Given the description of an element on the screen output the (x, y) to click on. 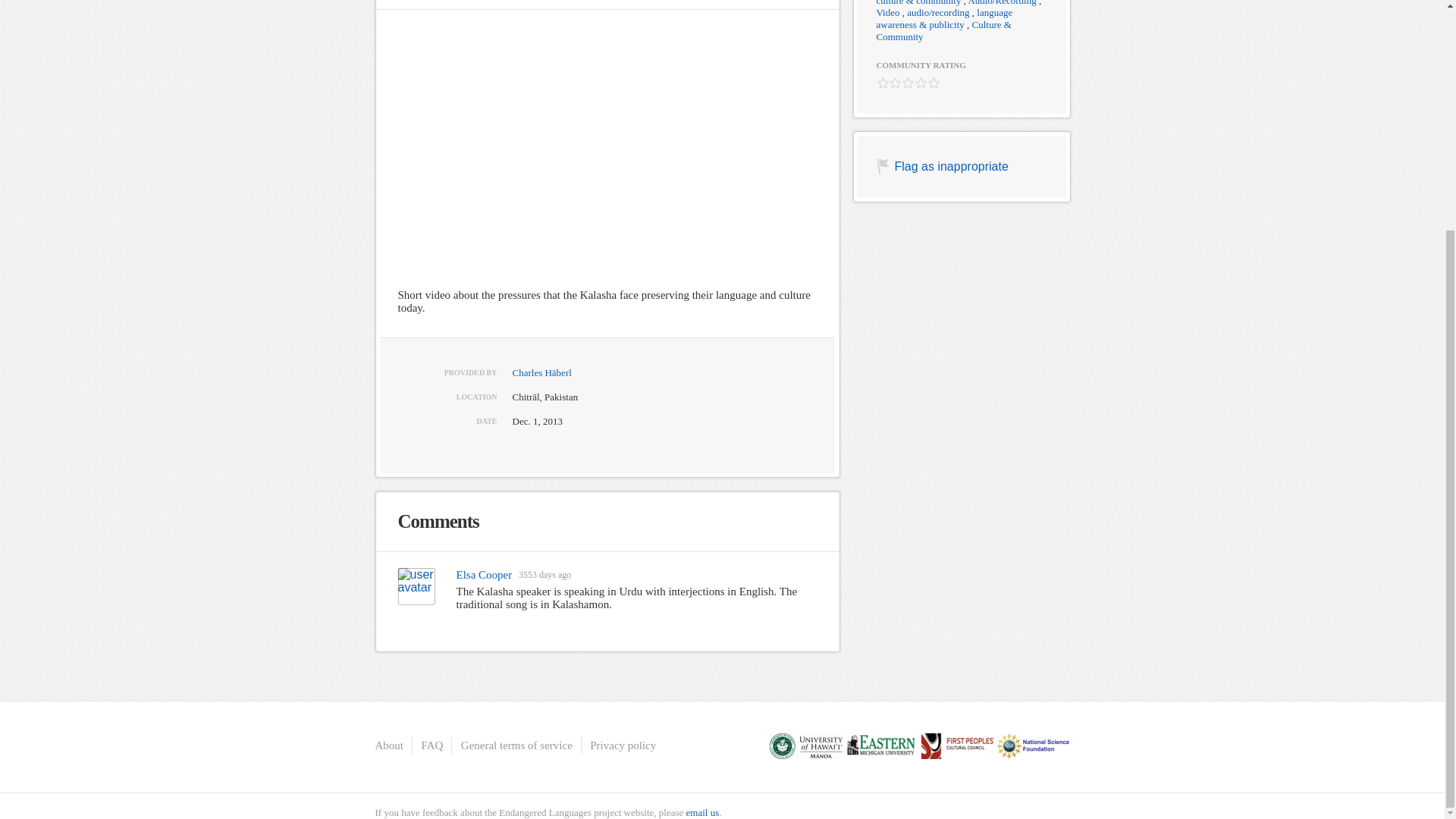
Elsa Cooper (484, 574)
Elsa Cooper (415, 586)
